Given the description of an element on the screen output the (x, y) to click on. 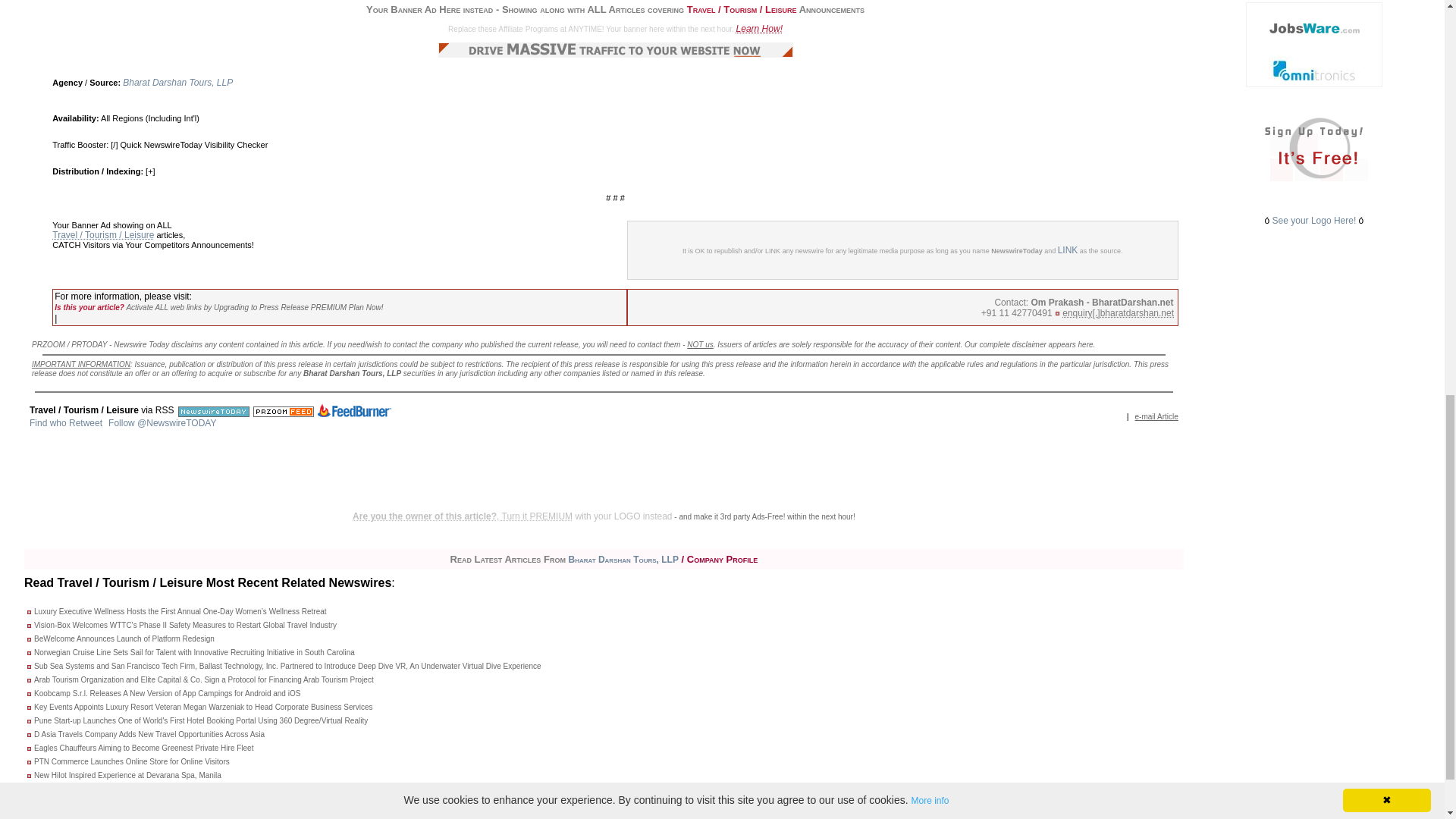
Quick NewswireToday (161, 144)
e-mail Article (1156, 415)
Learn How! (759, 28)
Find who Retweet (65, 422)
Bharat Darshan Tours, LLP (177, 81)
here (1085, 344)
LINK (1068, 249)
